Given the description of an element on the screen output the (x, y) to click on. 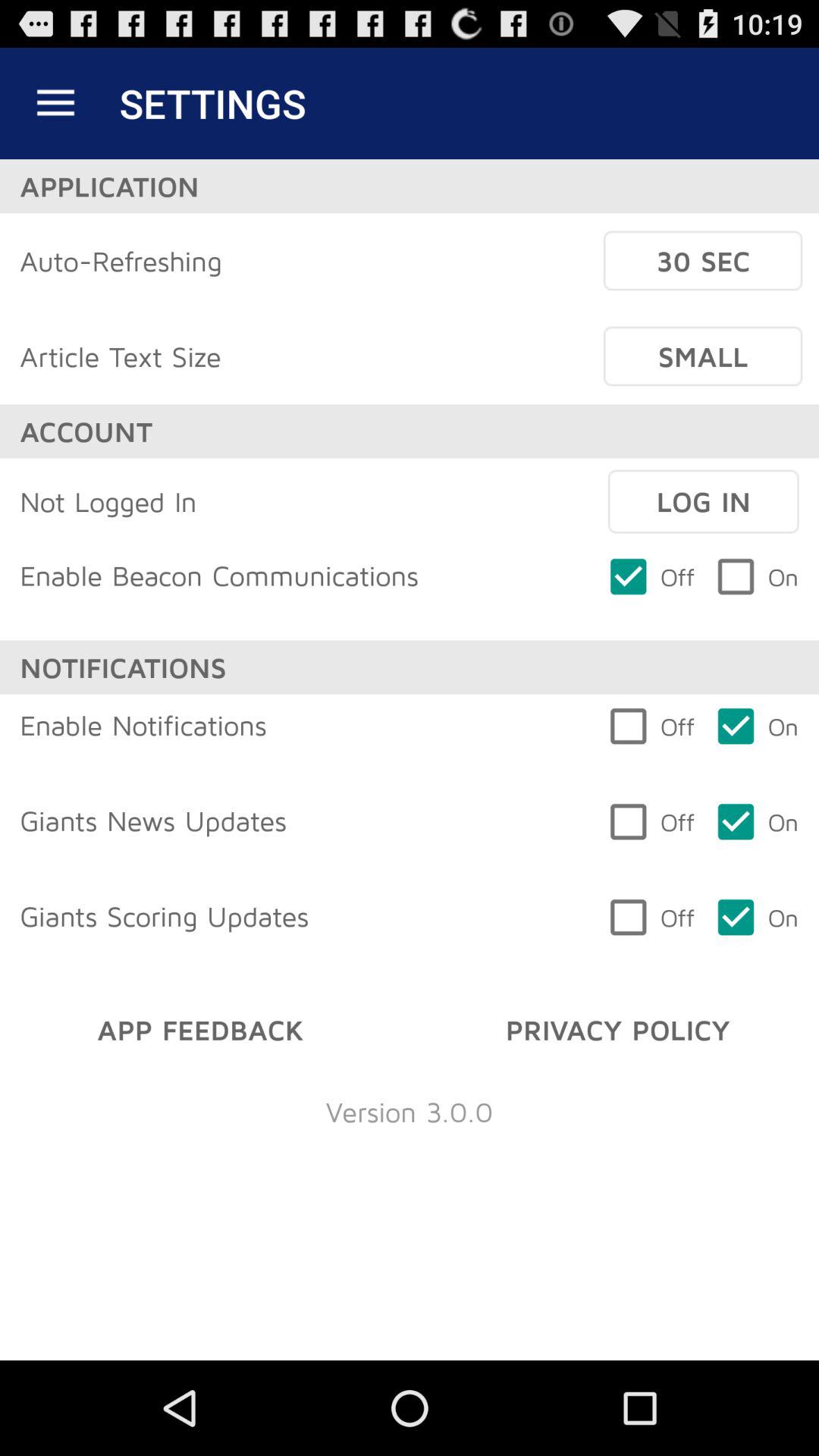
turn off icon above application (55, 103)
